Given the description of an element on the screen output the (x, y) to click on. 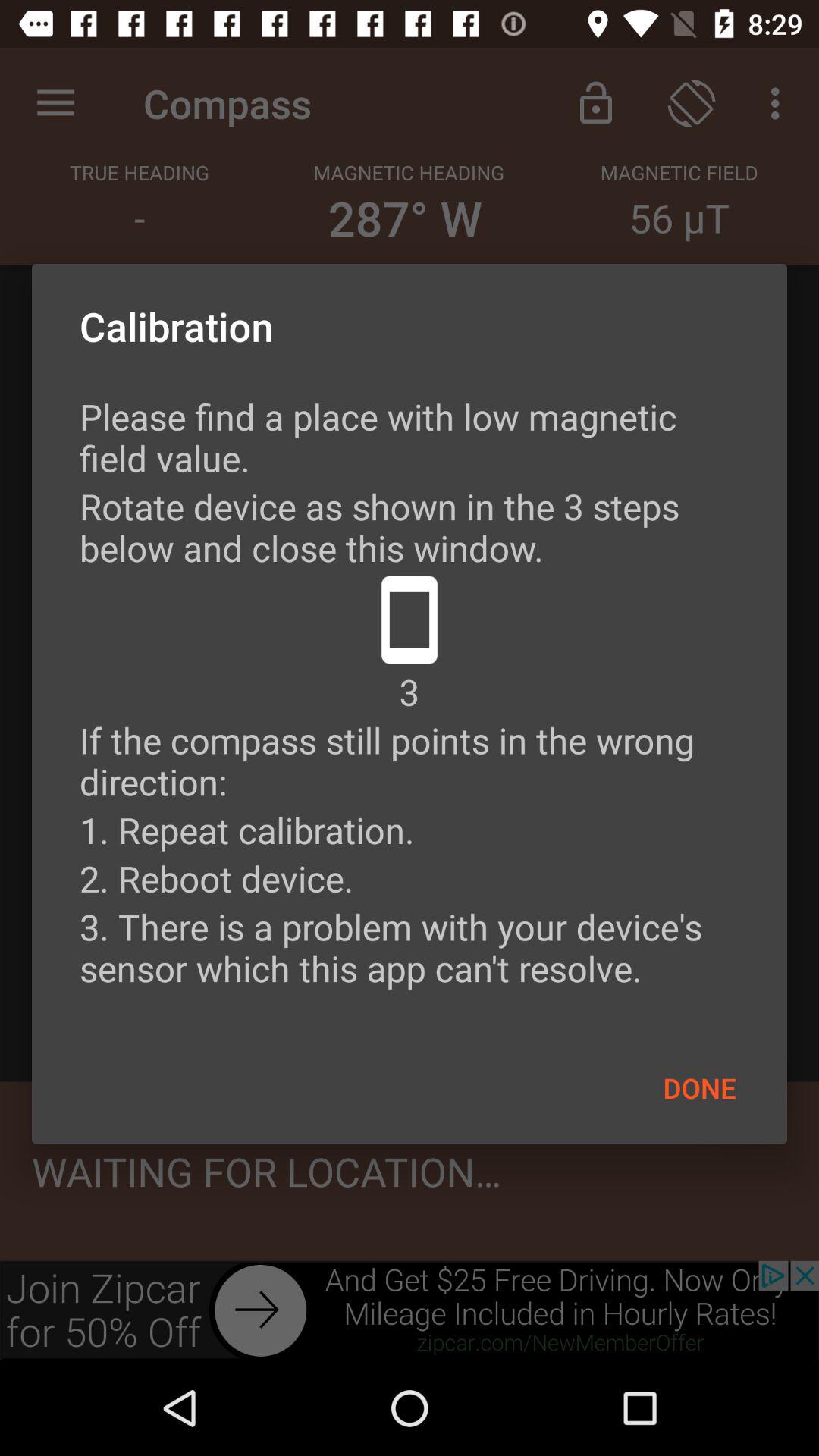
open done at the bottom right corner (699, 1087)
